Given the description of an element on the screen output the (x, y) to click on. 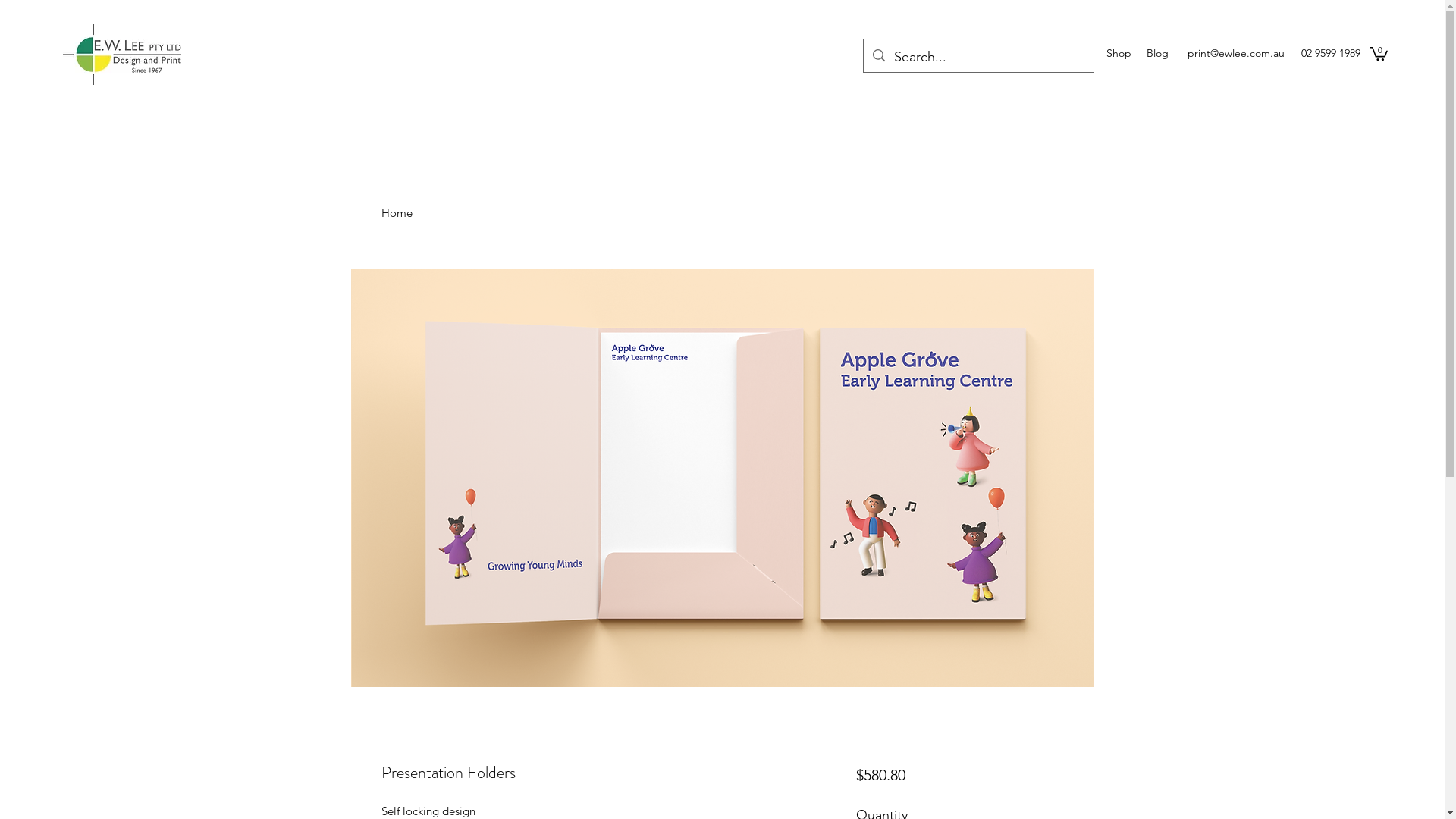
print@ewlee.com.au Element type: text (1235, 52)
Home Element type: text (395, 212)
Shop Element type: text (1118, 52)
Blog Element type: text (1157, 52)
Home Element type: text (1076, 52)
0 Element type: text (1378, 52)
